Given the description of an element on the screen output the (x, y) to click on. 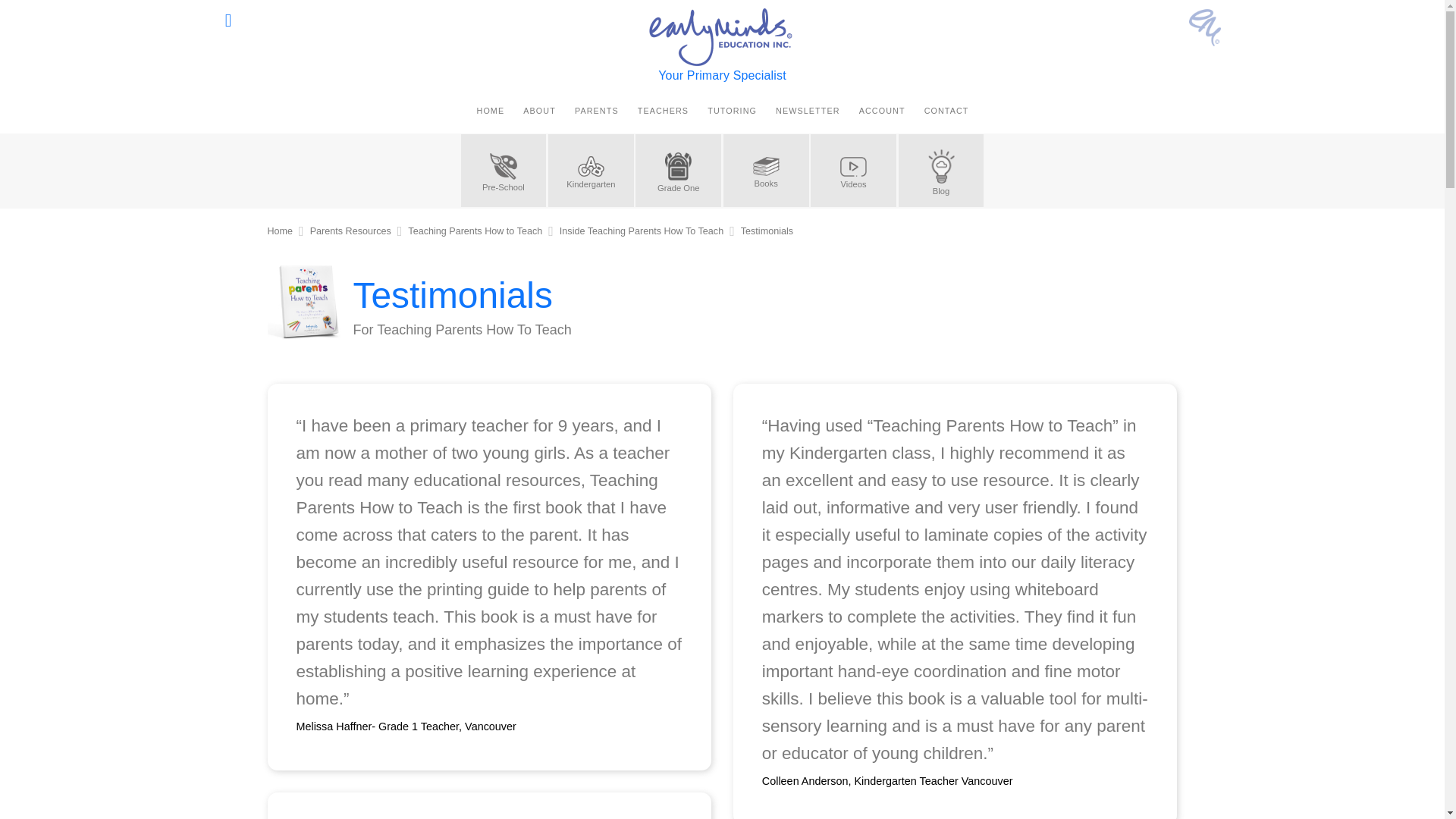
early minds support videos  (853, 170)
Home (279, 231)
TEACHERS (662, 111)
book recomendations (766, 170)
CONTACT (946, 111)
HOME (489, 111)
Grade One (677, 170)
PARENTS (595, 111)
Blog (941, 170)
articles from teachers parents (941, 170)
